Given the description of an element on the screen output the (x, y) to click on. 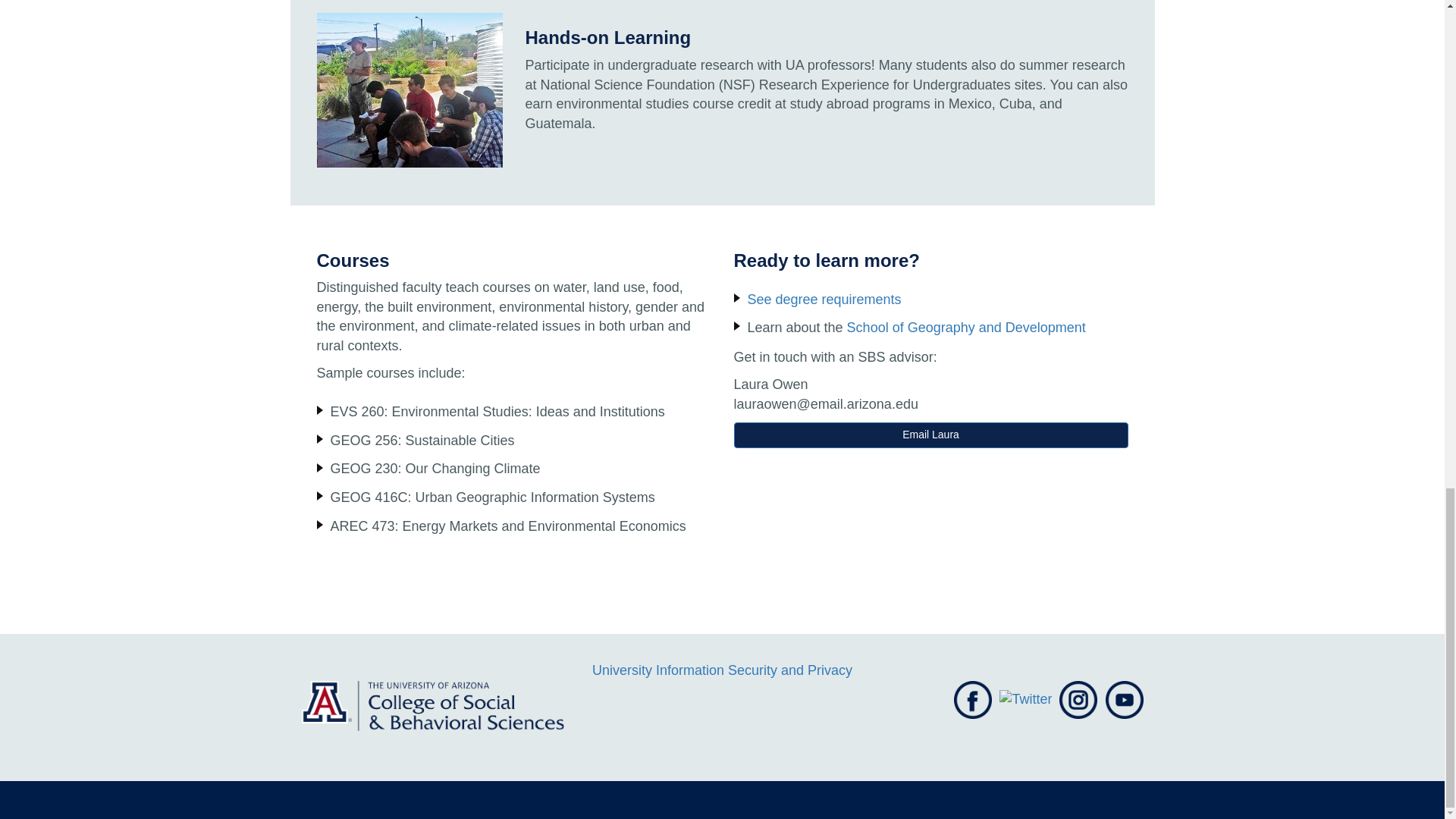
University Information Security and Privacy (721, 670)
School of Geography and Development (966, 327)
See degree requirements (824, 299)
Email Laura (930, 434)
